Given the description of an element on the screen output the (x, y) to click on. 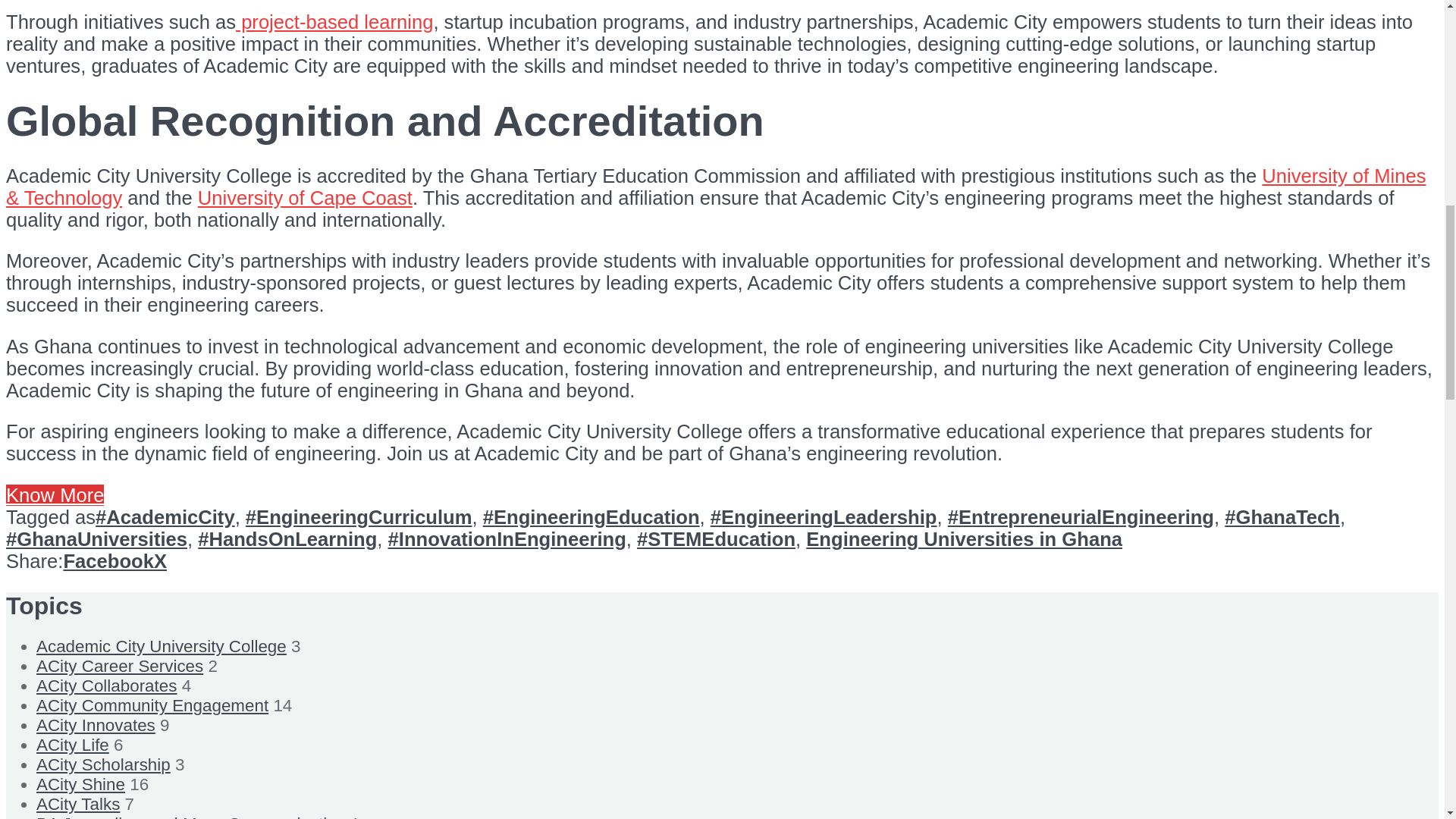
project-based learning (333, 21)
ACity Innovates (95, 724)
ACity Community Engagement (151, 705)
Academic City University College (161, 646)
Know More (54, 495)
ACity Collaborates (106, 685)
Engineering Universities in Ghana (964, 538)
ACity Life (72, 744)
Facebook (107, 560)
University of Cape Coast (305, 197)
